Given the description of an element on the screen output the (x, y) to click on. 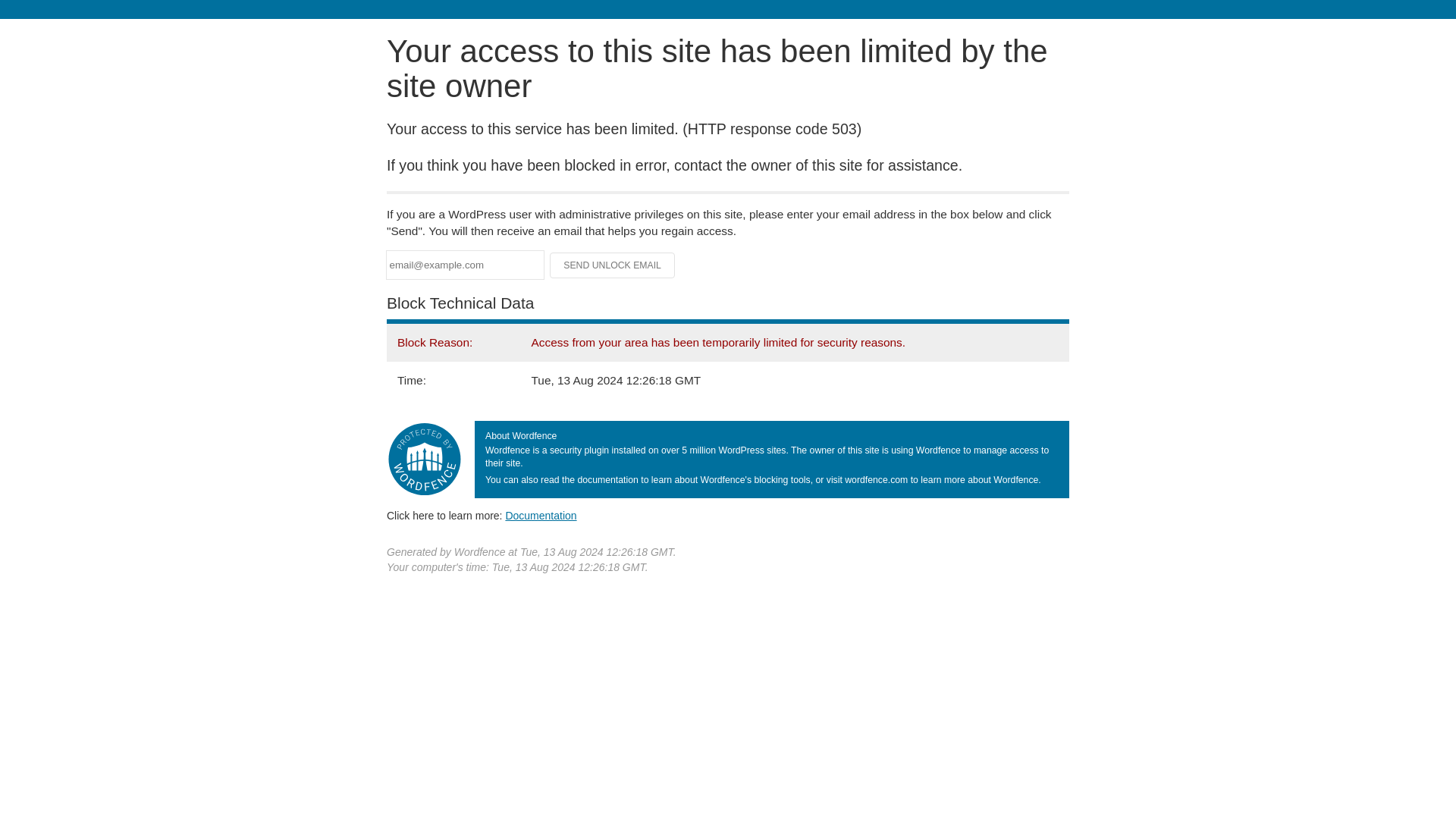
Send Unlock Email (612, 265)
Send Unlock Email (612, 265)
Documentation (540, 515)
